Given the description of an element on the screen output the (x, y) to click on. 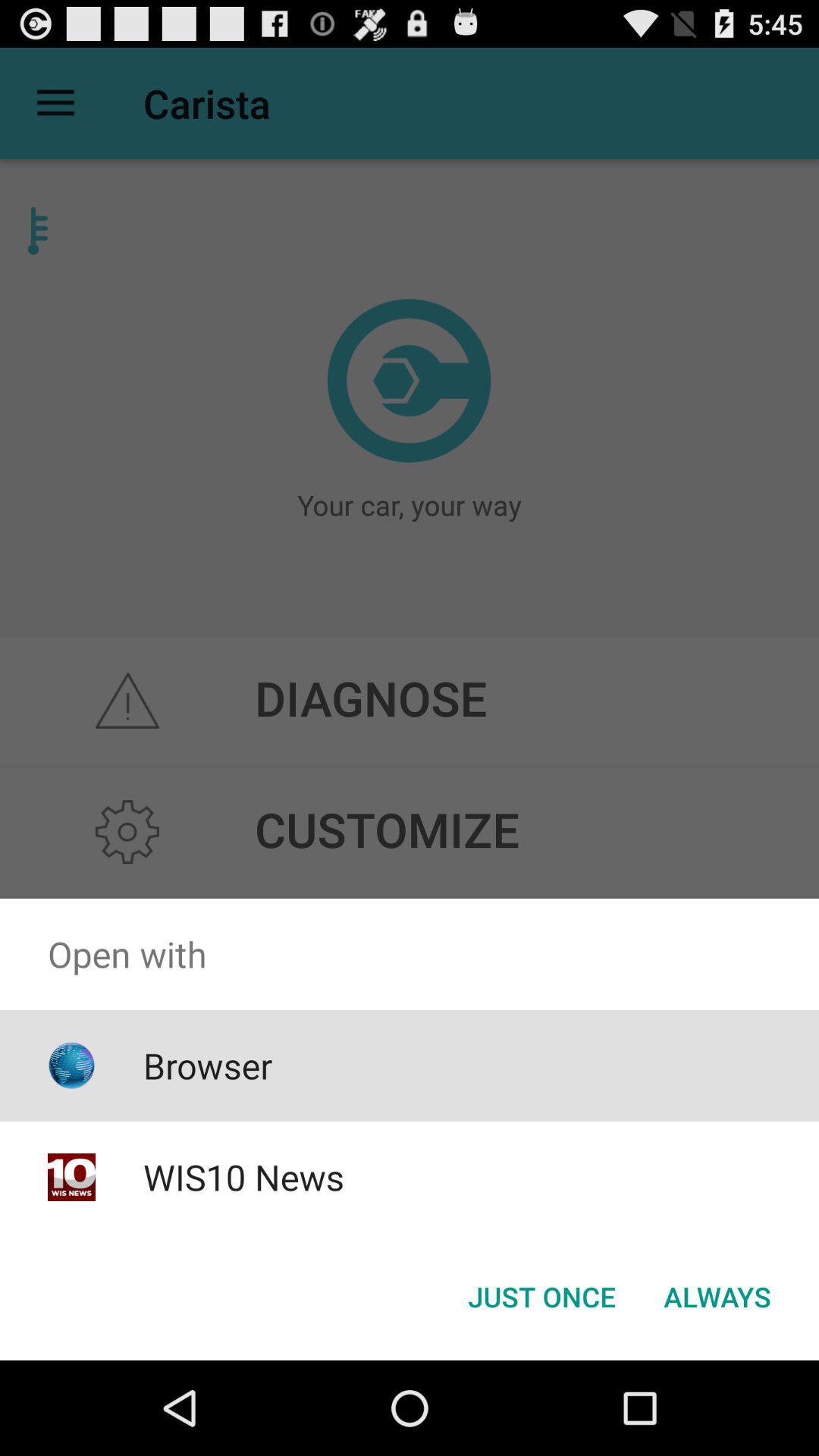
click the icon to the left of always icon (541, 1296)
